Given the description of an element on the screen output the (x, y) to click on. 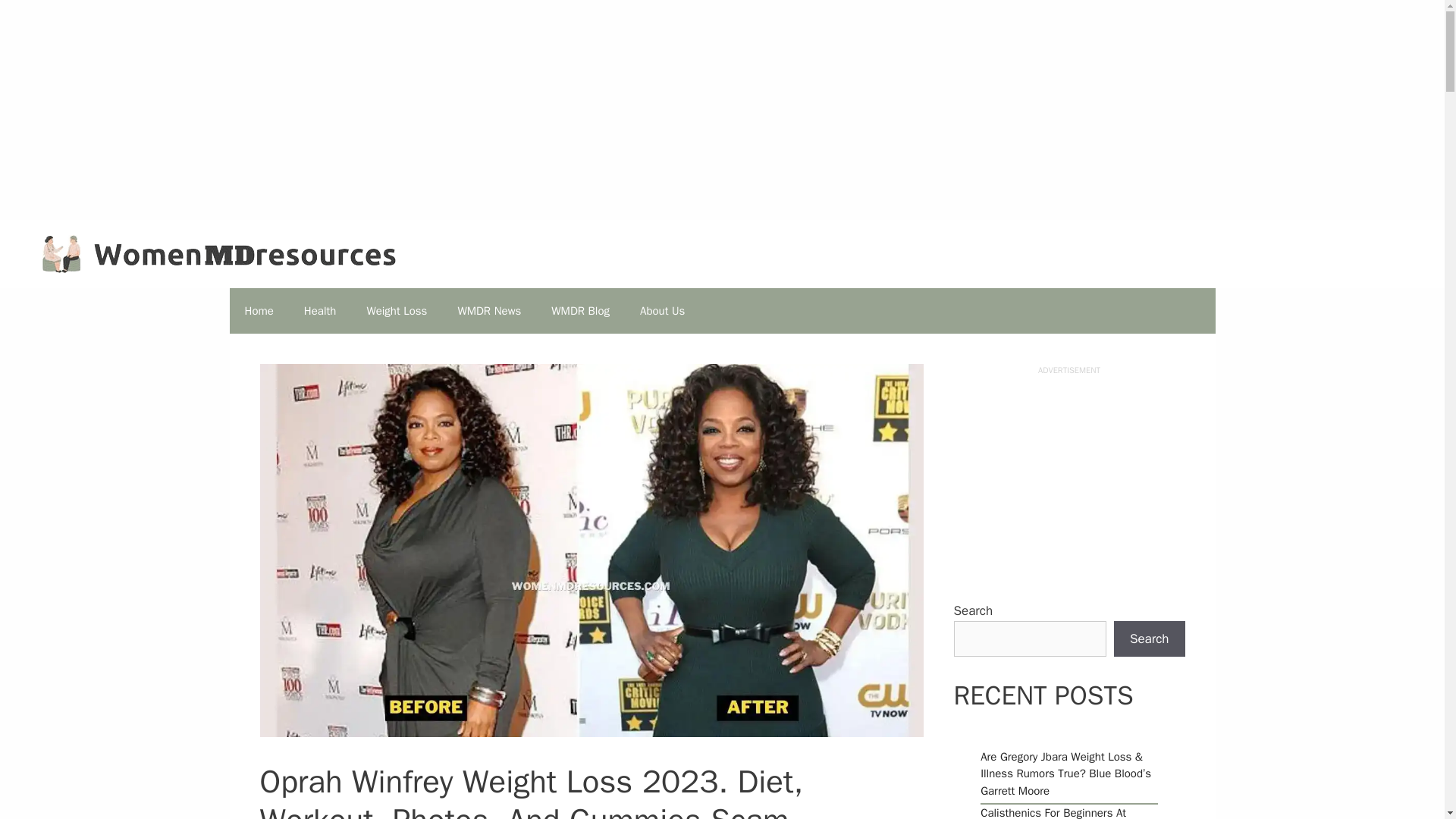
About Us (662, 310)
Home (258, 310)
Weight Loss (396, 310)
WMDR Blog (579, 310)
Health (320, 310)
WMDR News (488, 310)
